Given the description of an element on the screen output the (x, y) to click on. 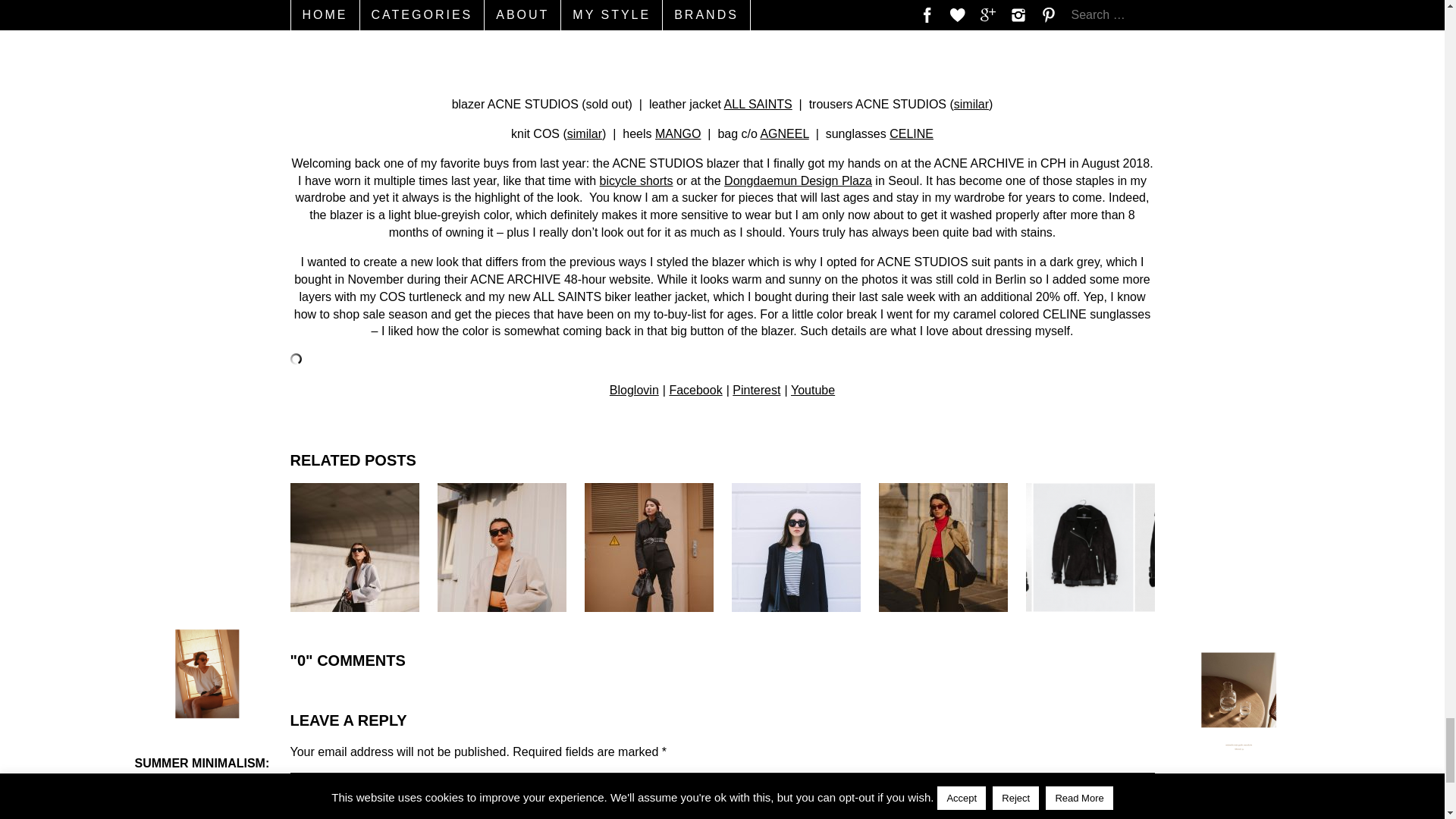
Back to Basics: Featuring ACNE STUDIOS blazer (501, 547)
Facebook (695, 390)
similar (584, 133)
Belted: Featuring Toteme Jeans (648, 547)
Pinterest (756, 390)
Golden Paris: Featuring Acne Overshirt (942, 547)
bicycle shorts (635, 180)
ALL SAINTS (757, 103)
AGNEEL (784, 133)
Dongdaemun Design Plaza (797, 180)
MANGO (677, 133)
similar (970, 103)
Dongdaemun Design Plaza: Featuring Acne Blazer (354, 547)
CELINE (911, 133)
Bloglovin (634, 390)
